Given the description of an element on the screen output the (x, y) to click on. 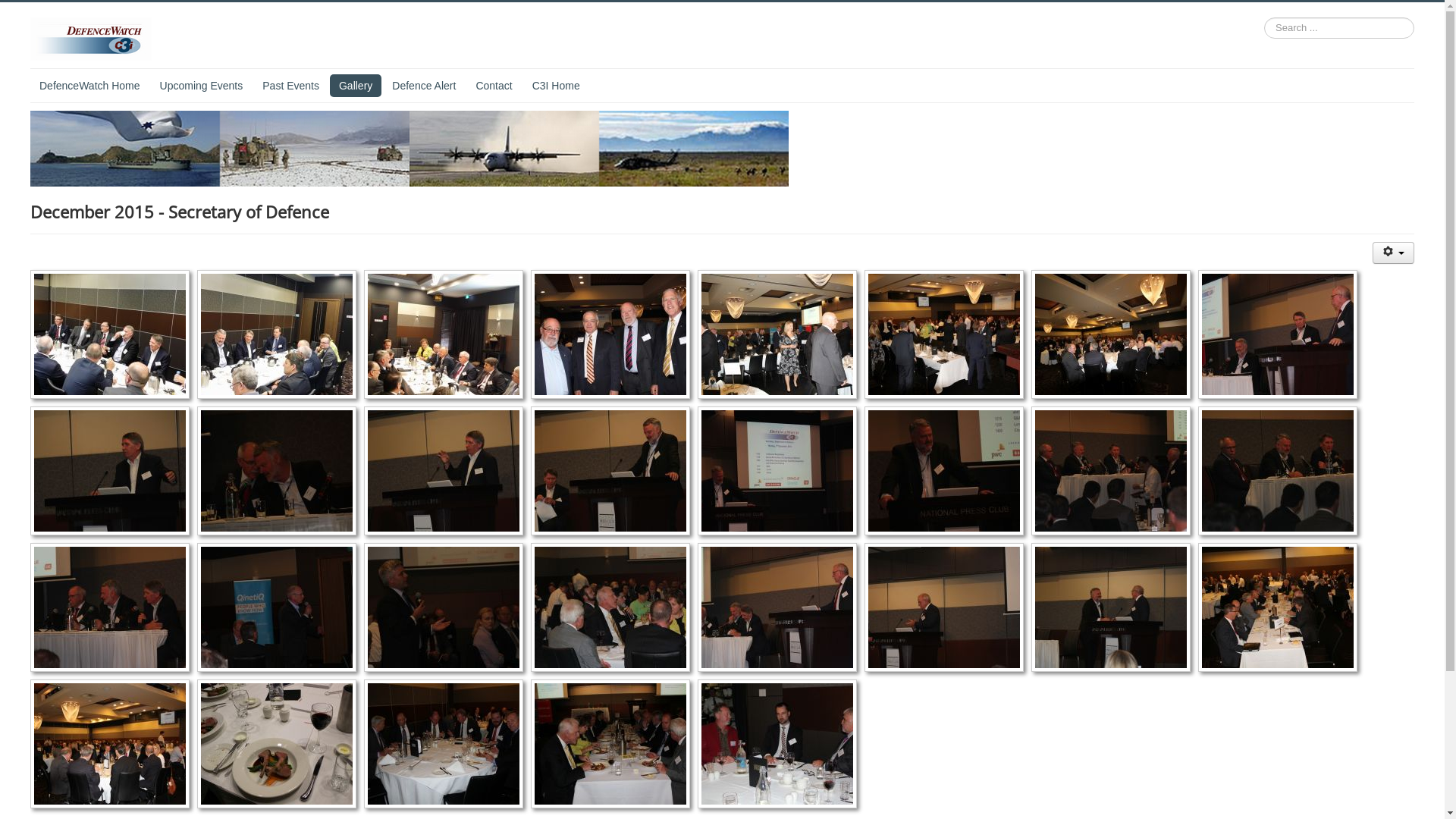
Gallery Element type: text (355, 85)
Contact Element type: text (493, 85)
Upcoming Events Element type: text (201, 85)
DefenceWatch Home Element type: text (89, 85)
Past Events Element type: text (290, 85)
C3I Home Element type: text (556, 85)
Defence Alert Element type: text (423, 85)
